Given the description of an element on the screen output the (x, y) to click on. 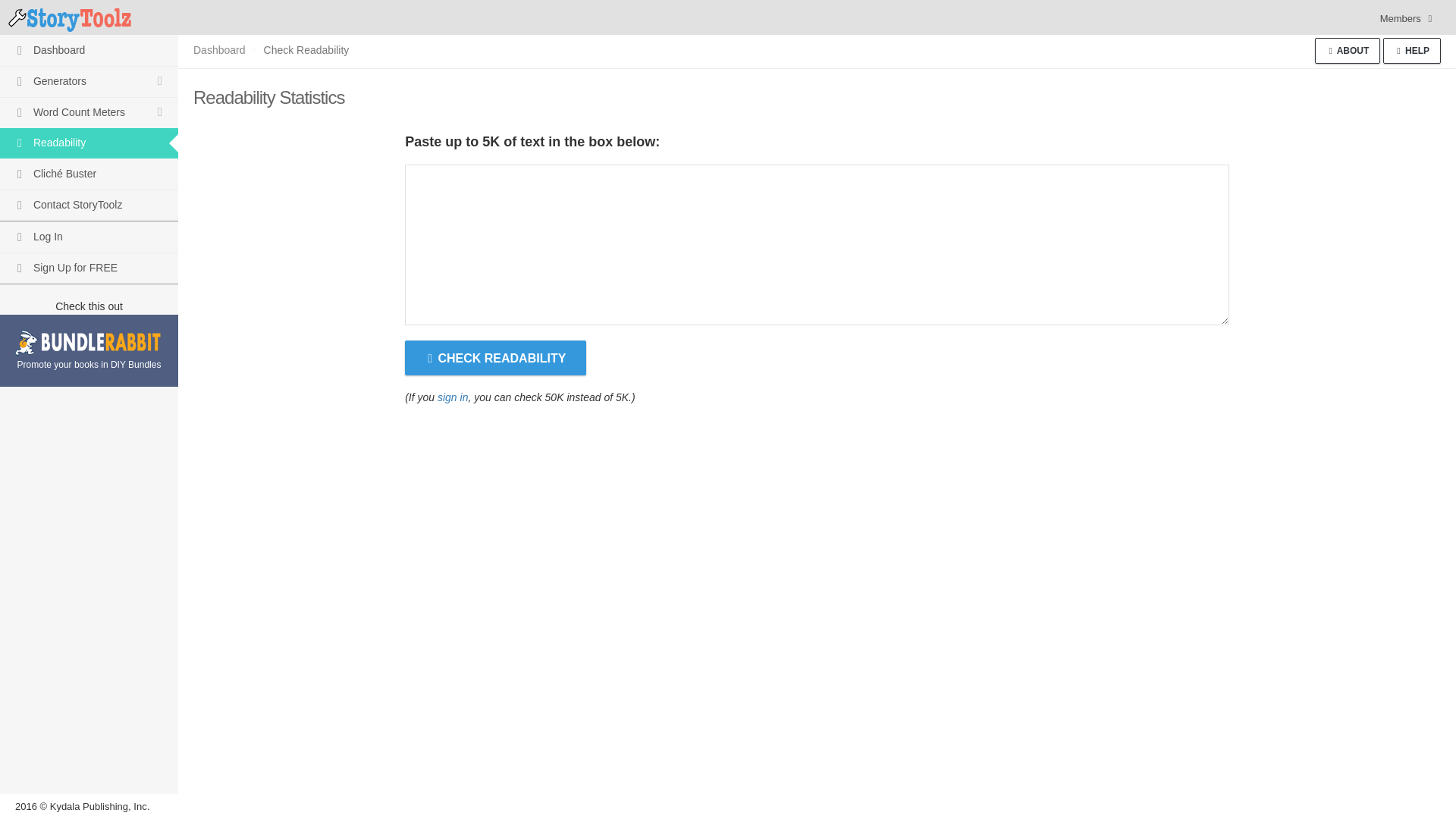
Generators (88, 81)
sign in (452, 397)
Dashboard (219, 50)
Contact StoryToolz (88, 204)
ABOUT (1347, 50)
Log In (88, 236)
HELP (1412, 50)
Promote your books in DIY Bundles (88, 351)
Dashboard (88, 50)
Word Count Meters (88, 112)
